Given the description of an element on the screen output the (x, y) to click on. 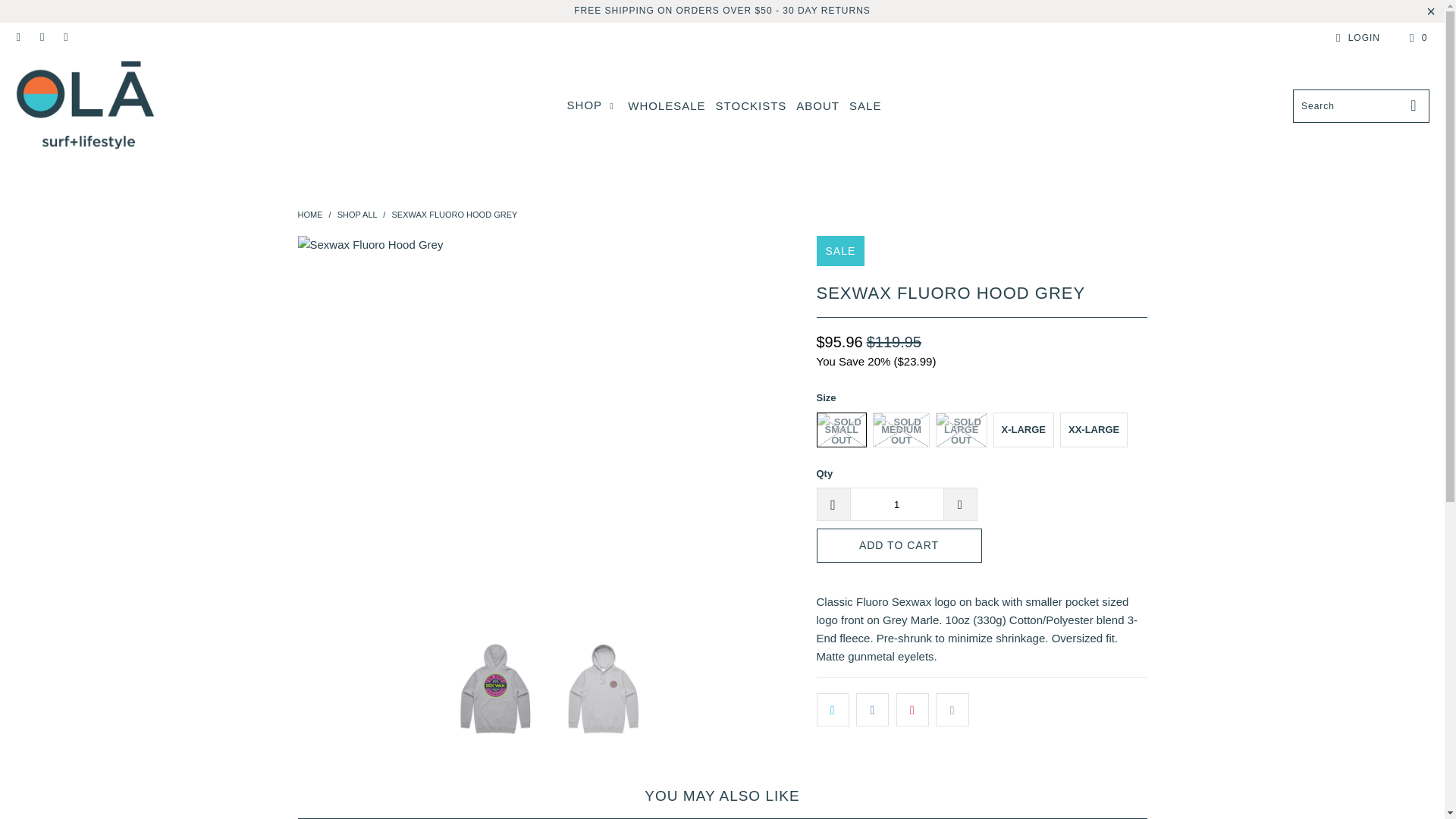
Share this on Twitter (831, 709)
Share this on Pinterest (912, 709)
Email this to a friend (952, 709)
Share this on Facebook (872, 709)
1 (895, 503)
SHOP ALL (357, 214)
My Account  (1355, 37)
